Given the description of an element on the screen output the (x, y) to click on. 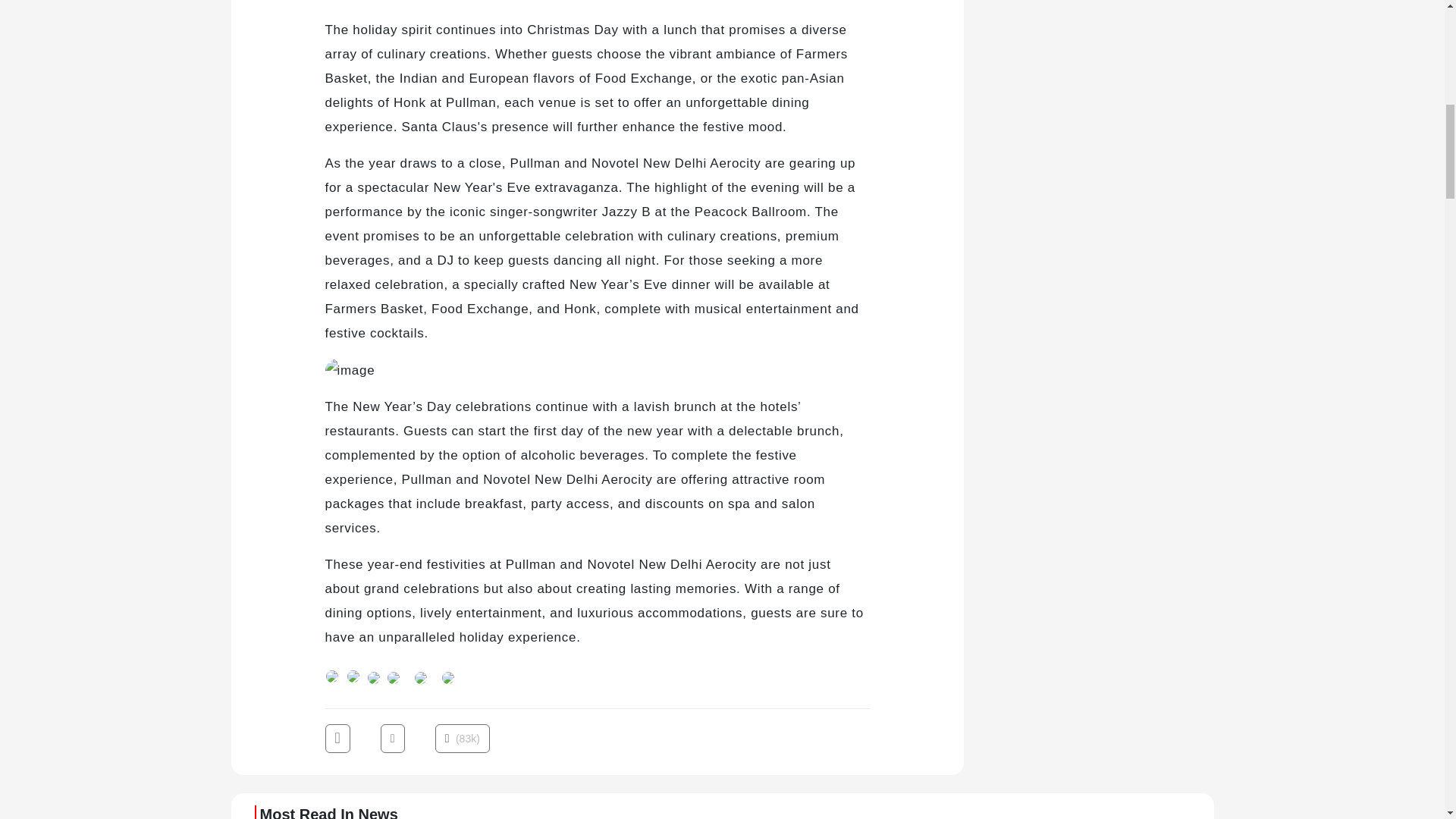
Copy (419, 675)
Save (447, 675)
